Given the description of an element on the screen output the (x, y) to click on. 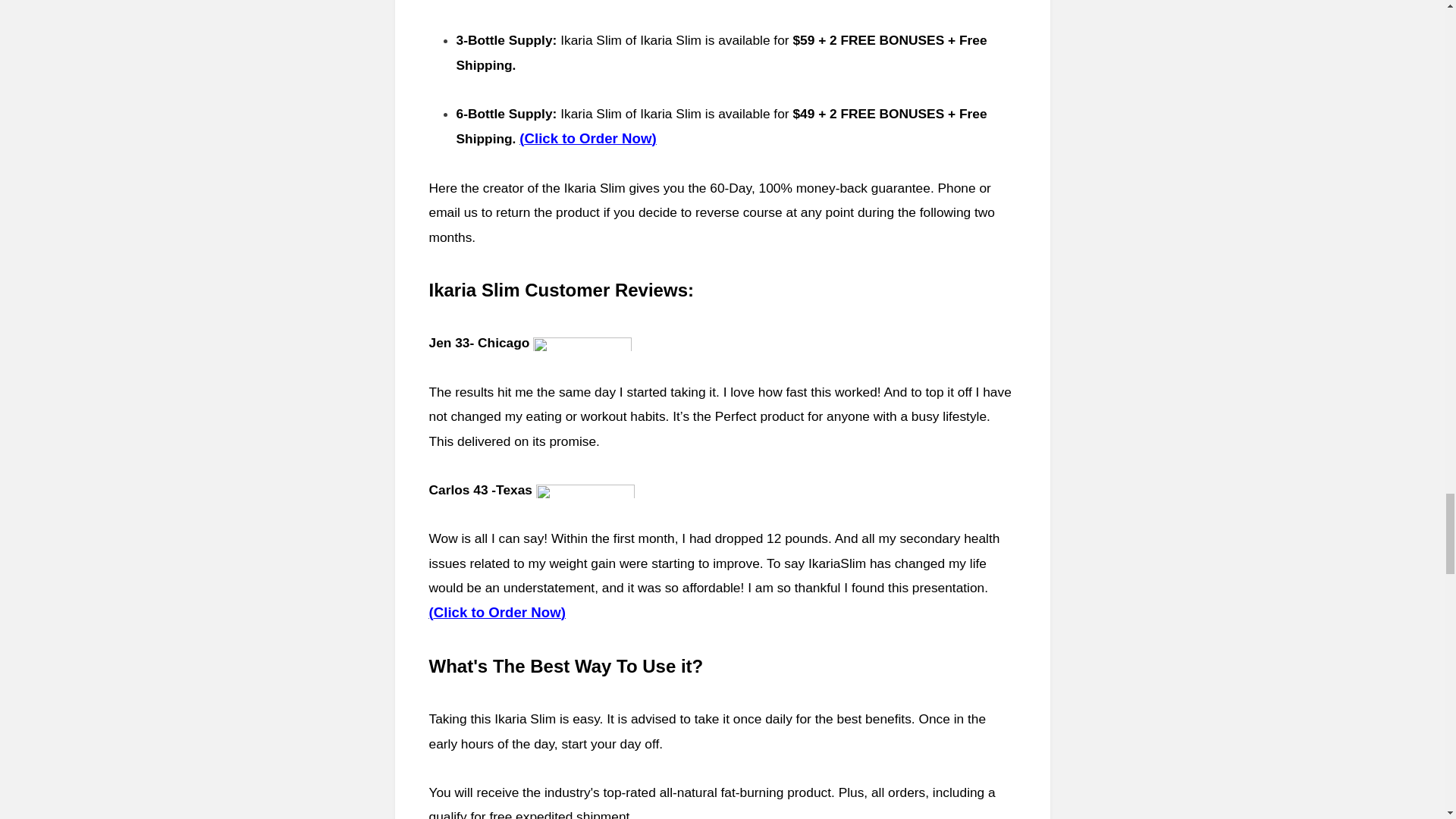
Click to Order Now (587, 138)
Click to Order Now (496, 611)
